Given the description of an element on the screen output the (x, y) to click on. 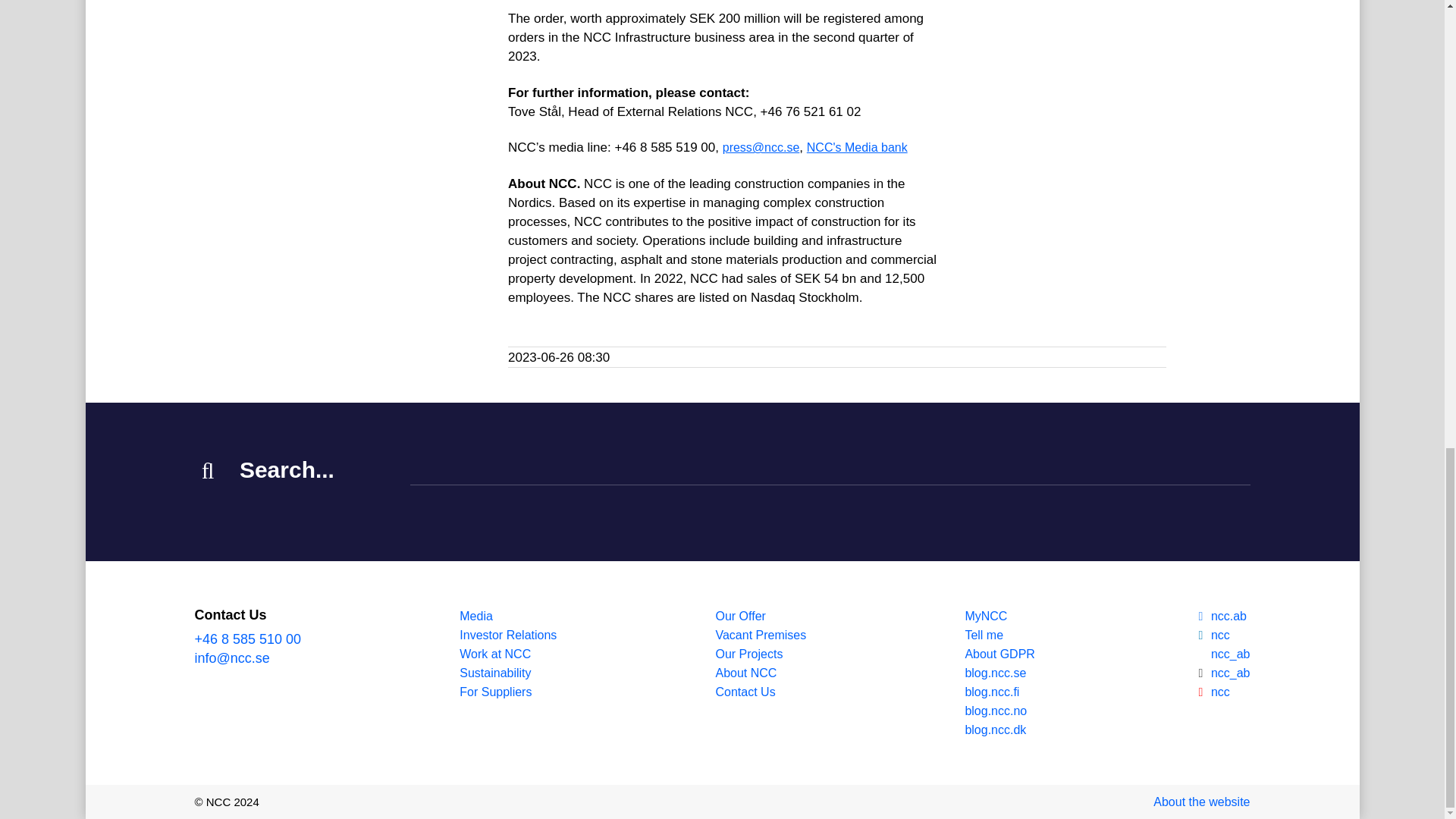
Search... (830, 471)
Media (508, 615)
NCC's Media bank (856, 146)
